Given the description of an element on the screen output the (x, y) to click on. 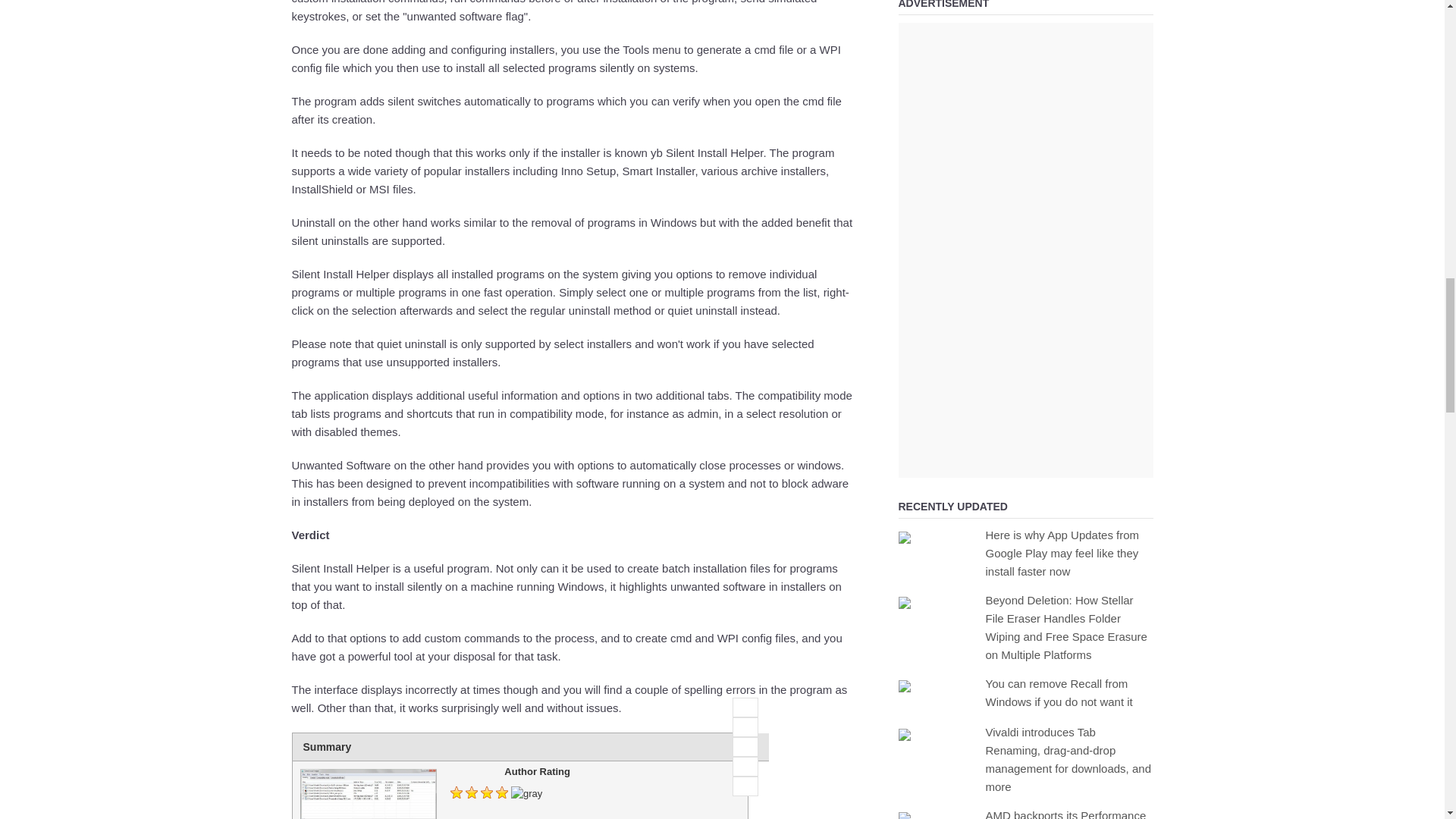
3 (745, 746)
1 (745, 707)
2 (745, 727)
4 (745, 766)
5 (745, 786)
